Given the description of an element on the screen output the (x, y) to click on. 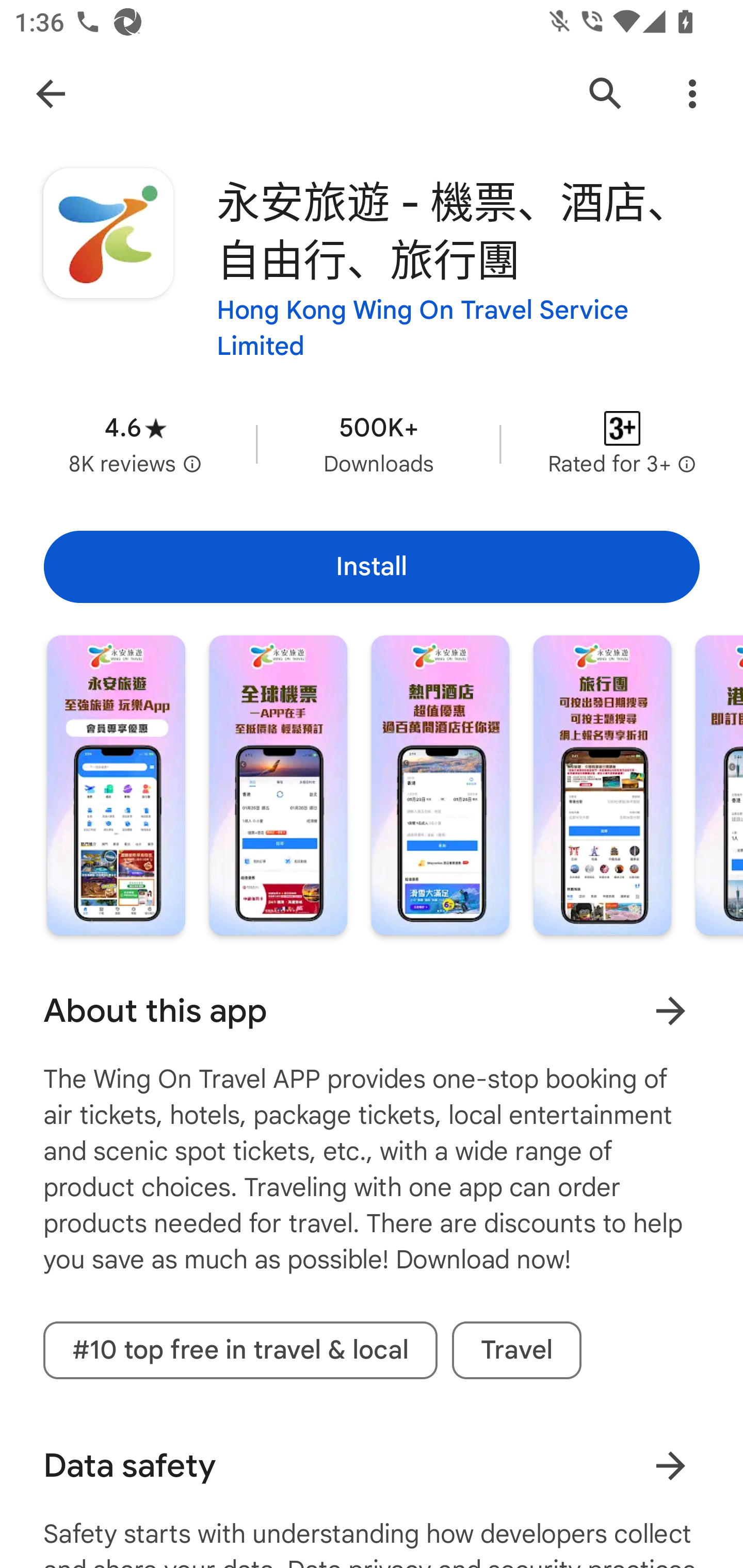
Navigate up (50, 93)
Search Google Play (605, 93)
More Options (692, 93)
Hong Kong Wing On Travel Service Limited (457, 328)
Average rating 4.6 stars in 8 thousand reviews (135, 443)
Content rating Rated for 3+ (622, 443)
Install (371, 566)
Screenshot "1" of "8" (115, 784)
Screenshot "2" of "8" (277, 784)
Screenshot "3" of "8" (439, 784)
Screenshot "4" of "8" (601, 784)
About this app Learn more About this app (371, 1010)
Learn more About this app (670, 1010)
#10 top free in travel & local tag (240, 1350)
Travel tag (516, 1350)
Data safety Learn more about data safety (371, 1465)
Learn more about data safety (670, 1465)
